Given the description of an element on the screen output the (x, y) to click on. 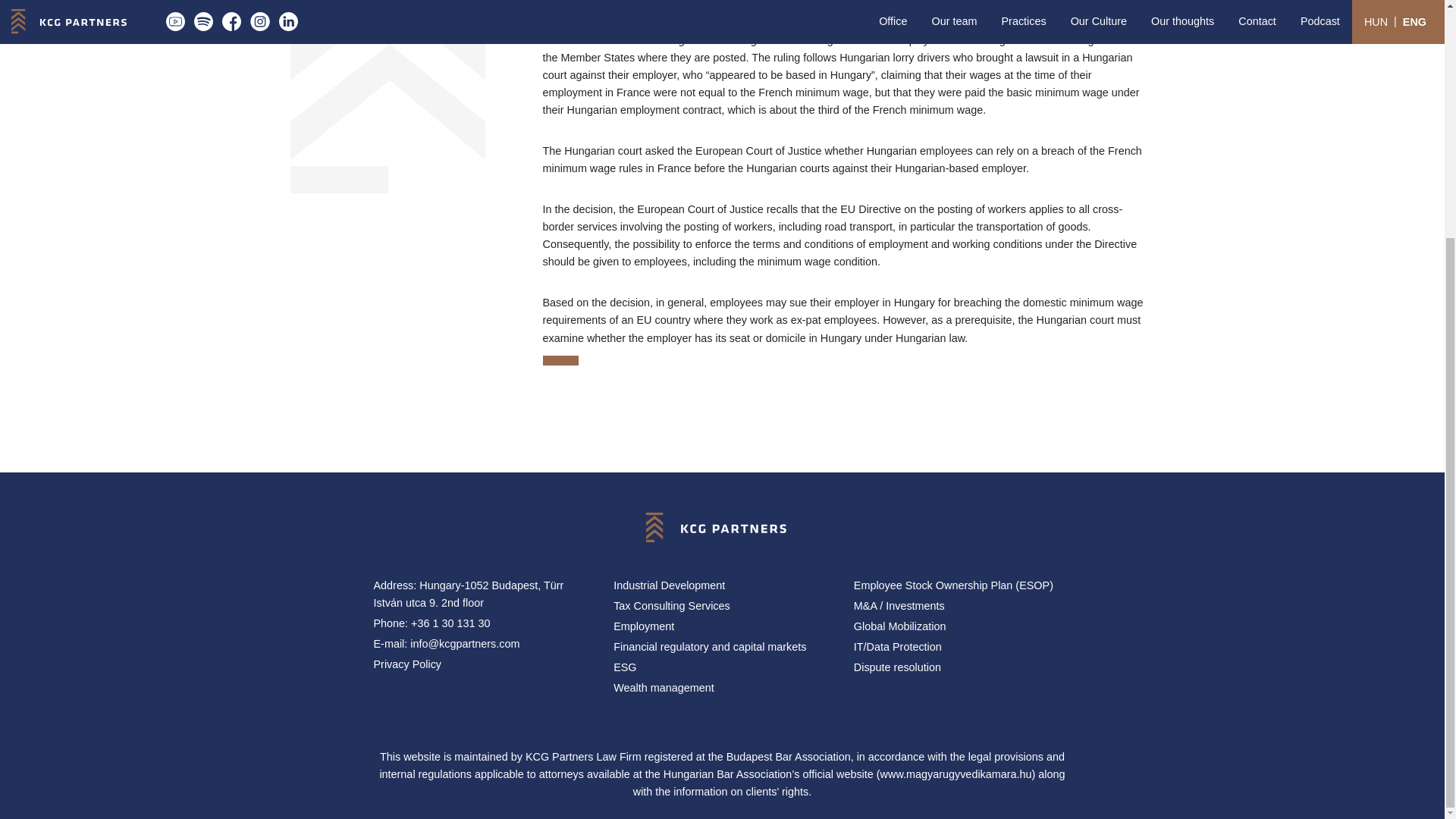
Employment (721, 626)
Privacy Policy (481, 664)
Tax Consulting Services (721, 606)
Industrial Development (721, 585)
